Given the description of an element on the screen output the (x, y) to click on. 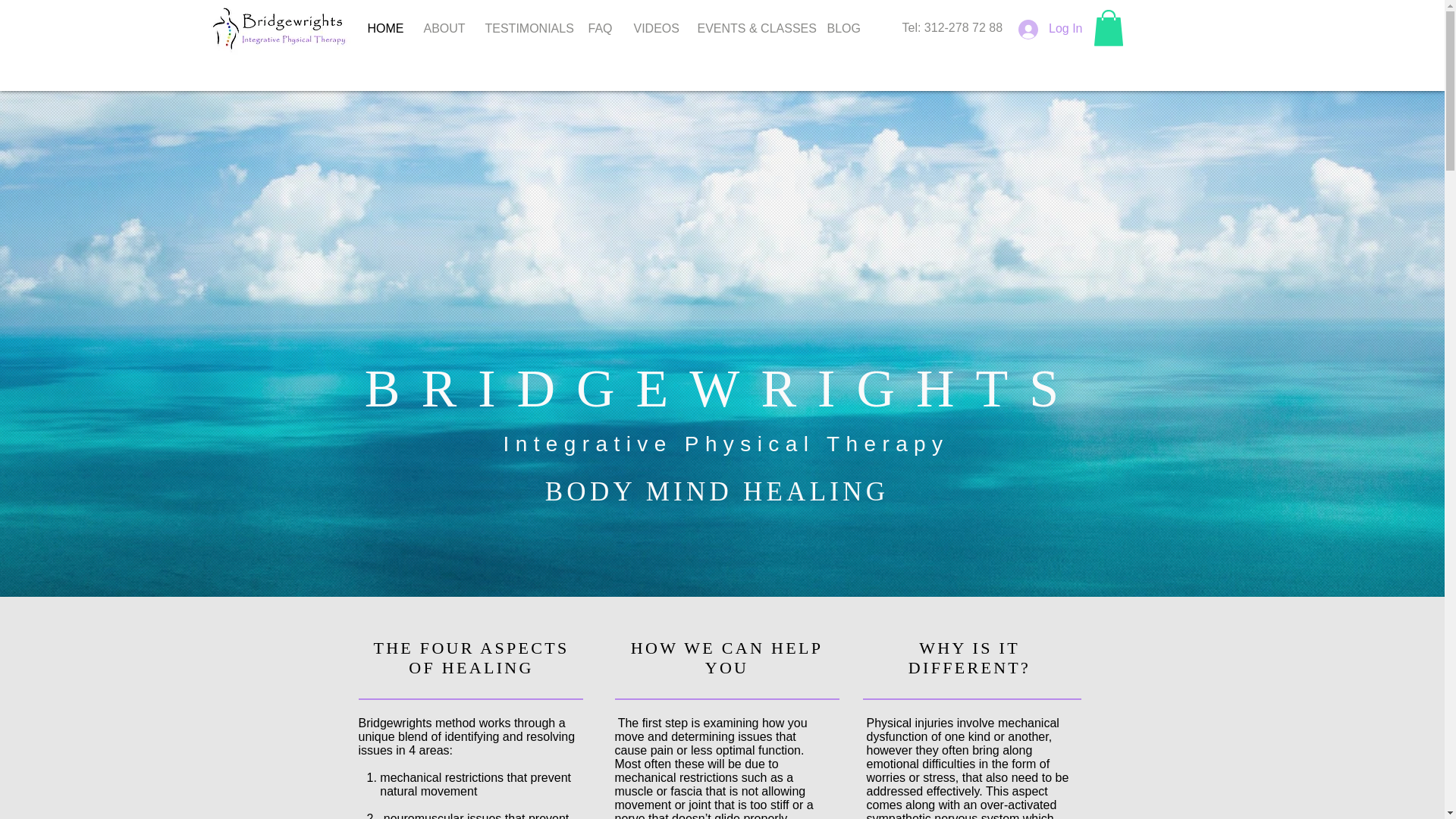
HOME (384, 28)
FAQ (598, 28)
TESTIMONIALS (524, 28)
Embedded Content (82, 787)
BLOG (842, 28)
Log In (1050, 29)
ABOUT (443, 28)
VIDEOS (653, 28)
